Given the description of an element on the screen output the (x, y) to click on. 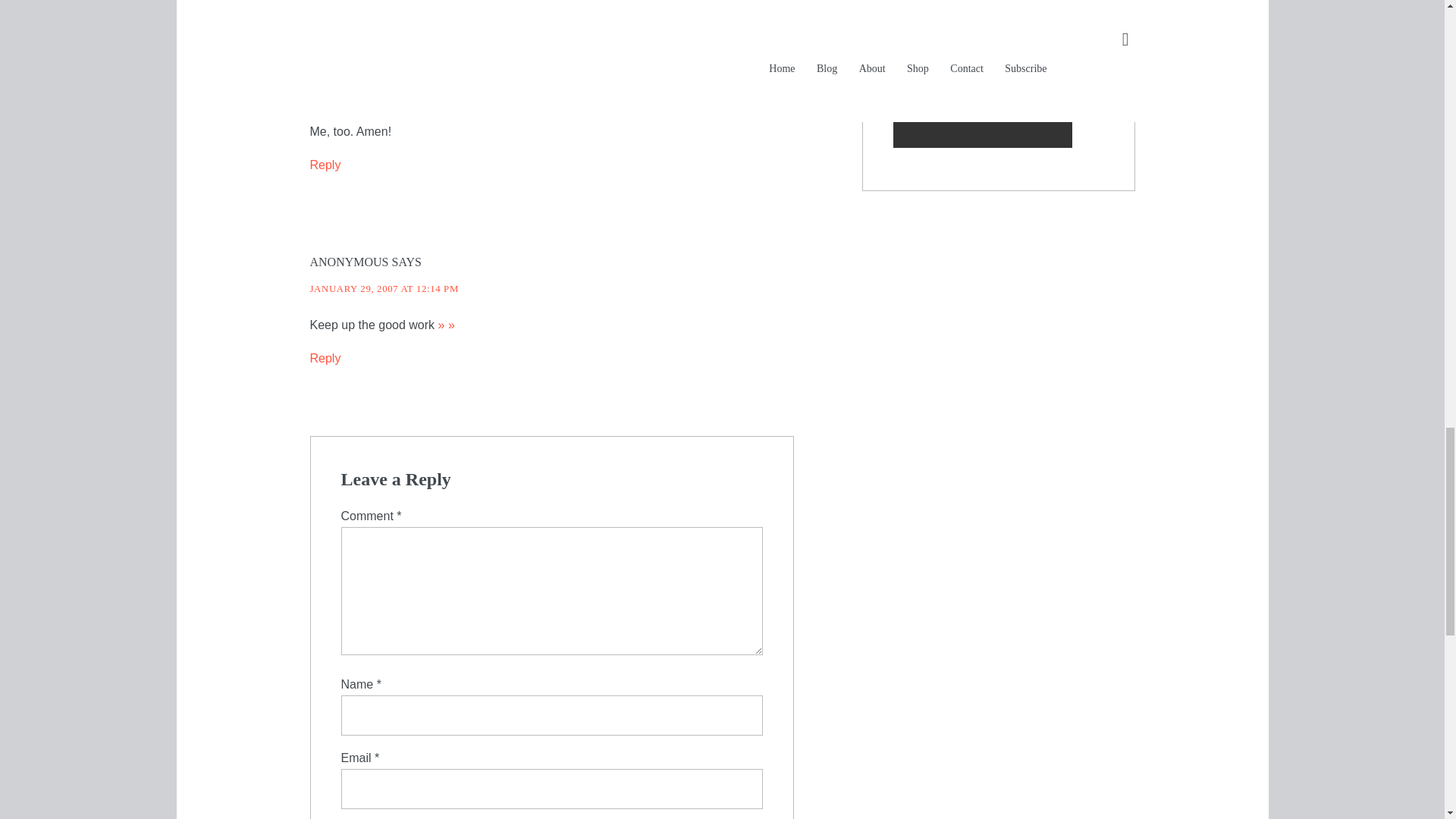
Reply (324, 164)
Reply (324, 358)
JANUARY 29, 2007 AT 12:14 PM (383, 288)
AUGUST 11, 2006 AT 7:36 PM (377, 94)
